Given the description of an element on the screen output the (x, y) to click on. 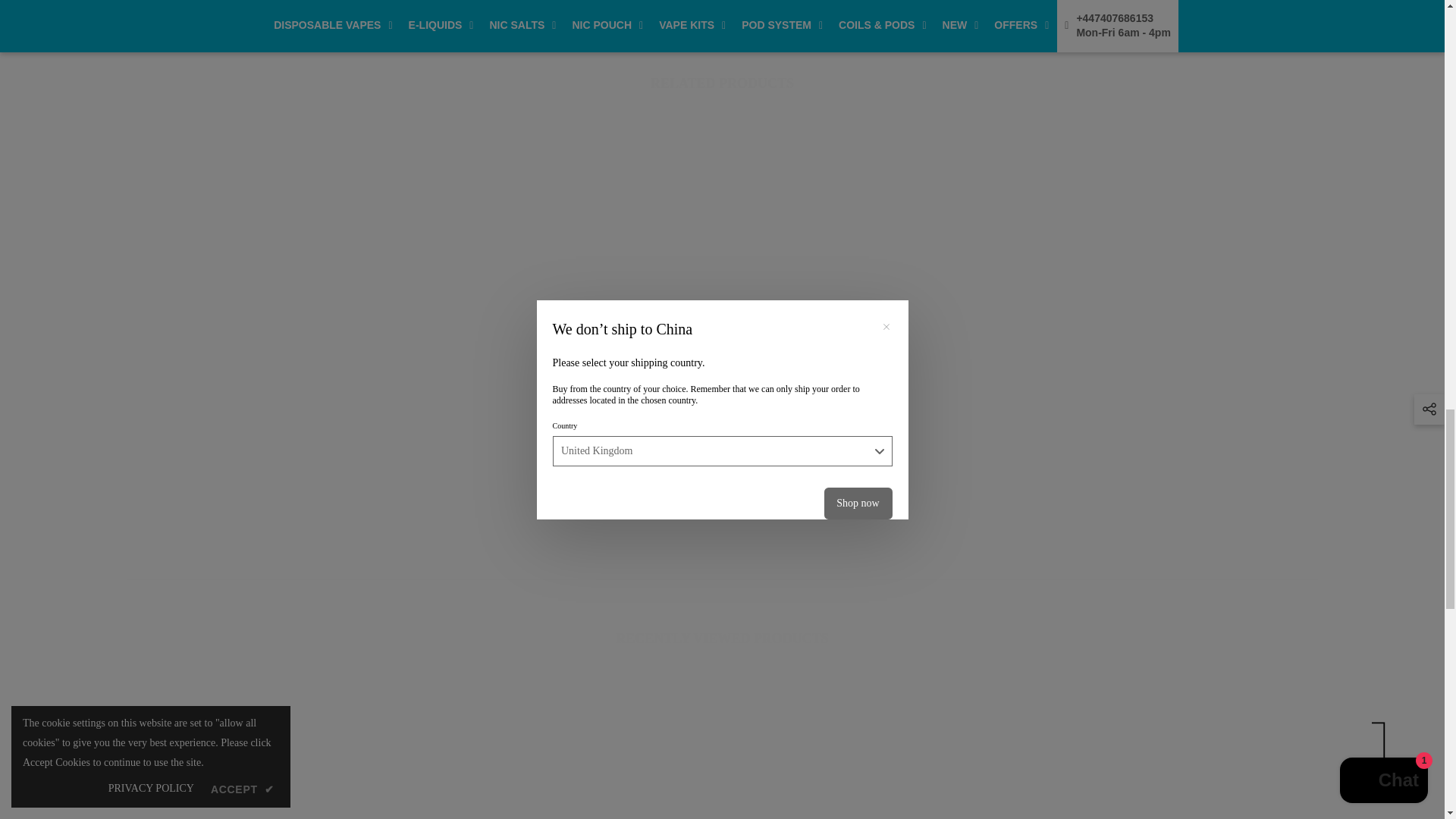
RECENTLY VIEWED PRODUCTS (722, 637)
